Given the description of an element on the screen output the (x, y) to click on. 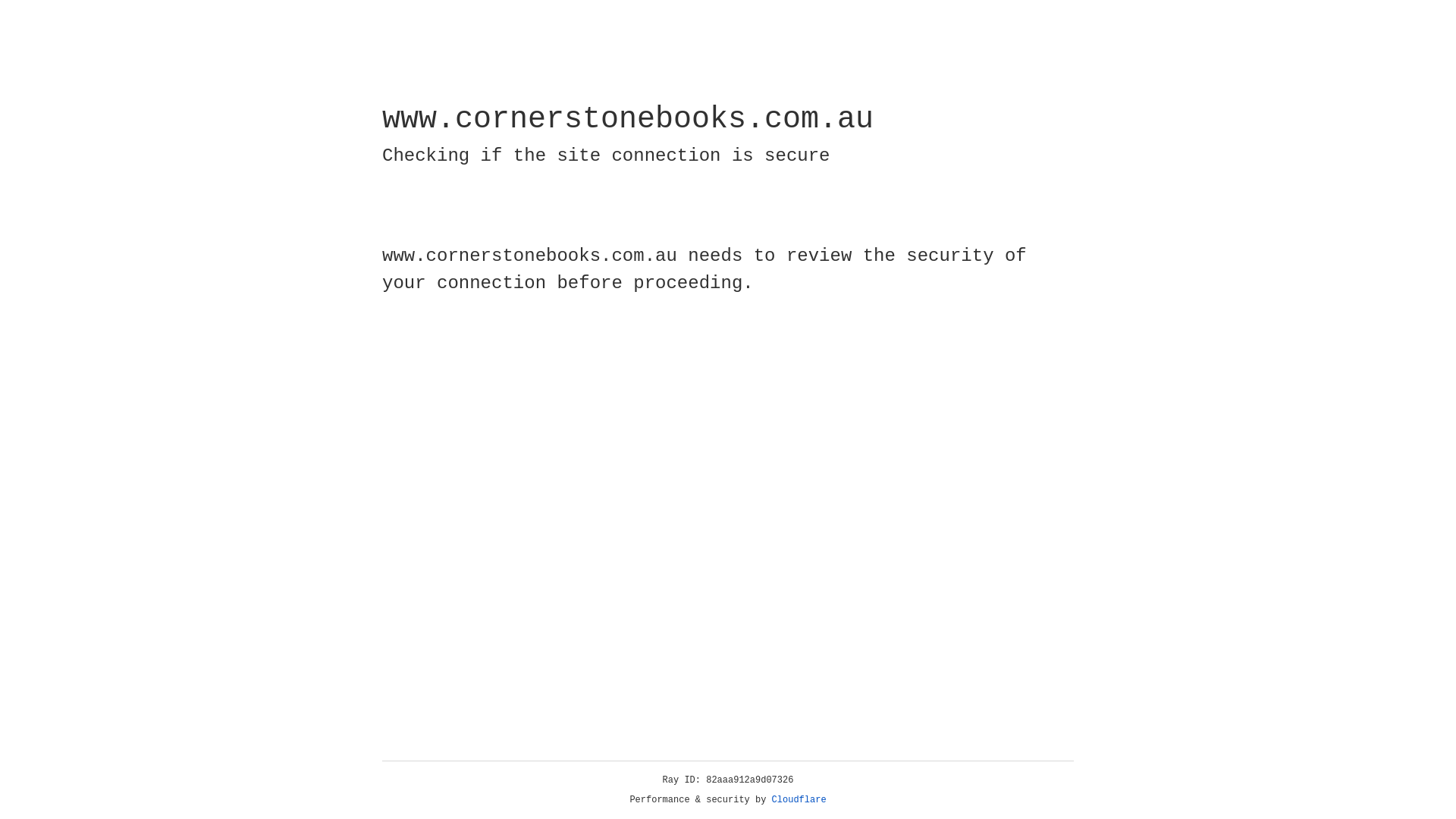
Cloudflare Element type: text (798, 799)
